Given the description of an element on the screen output the (x, y) to click on. 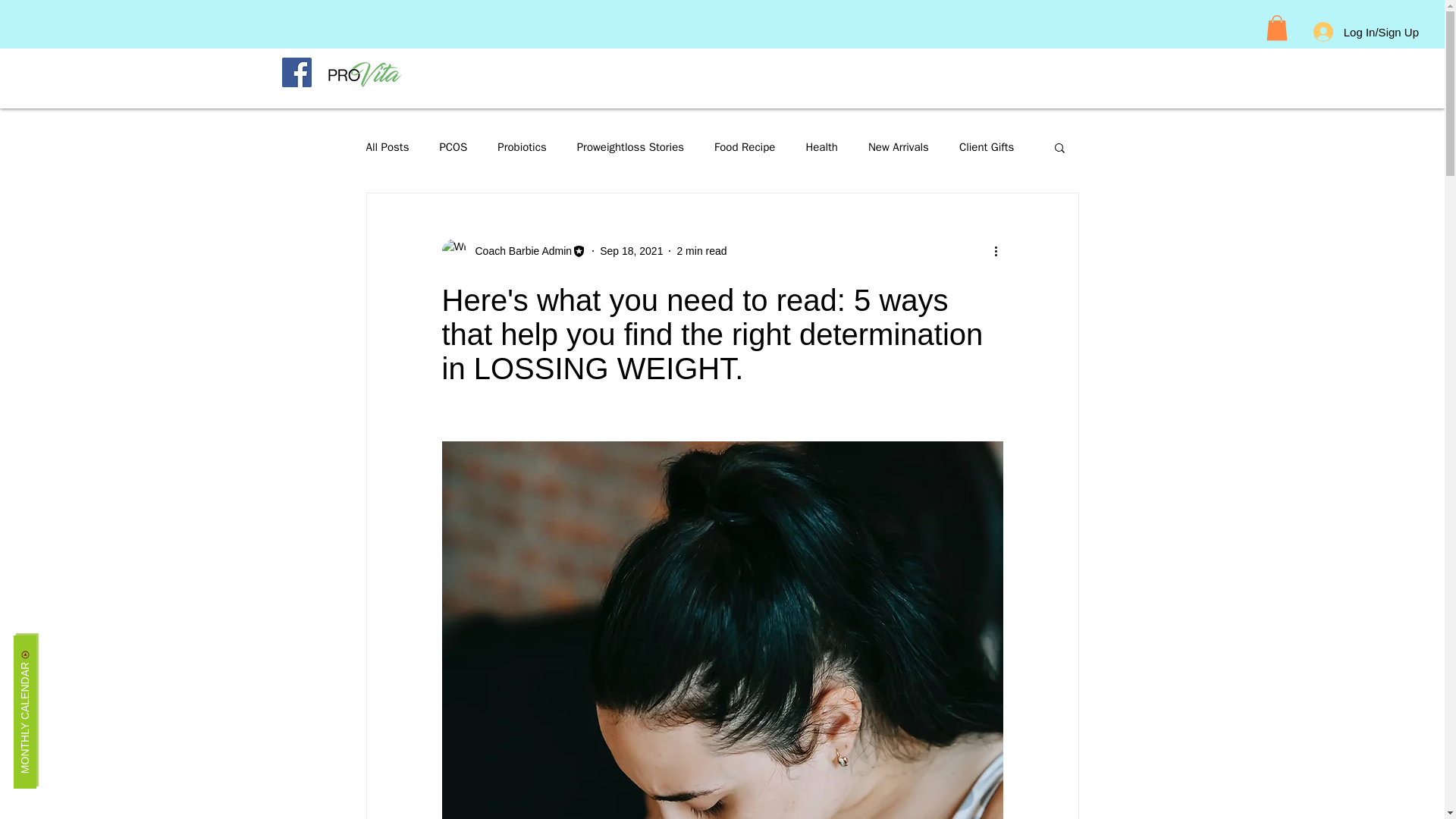
Coach Barbie Admin (518, 250)
Health (821, 146)
PCOS (453, 146)
New Arrivals (897, 146)
Sep 18, 2021 (630, 250)
2 min read (701, 250)
Coach Barbie Admin (513, 250)
Probiotics (521, 146)
Client Gifts (986, 146)
Proweightloss Stories (630, 146)
